Given the description of an element on the screen output the (x, y) to click on. 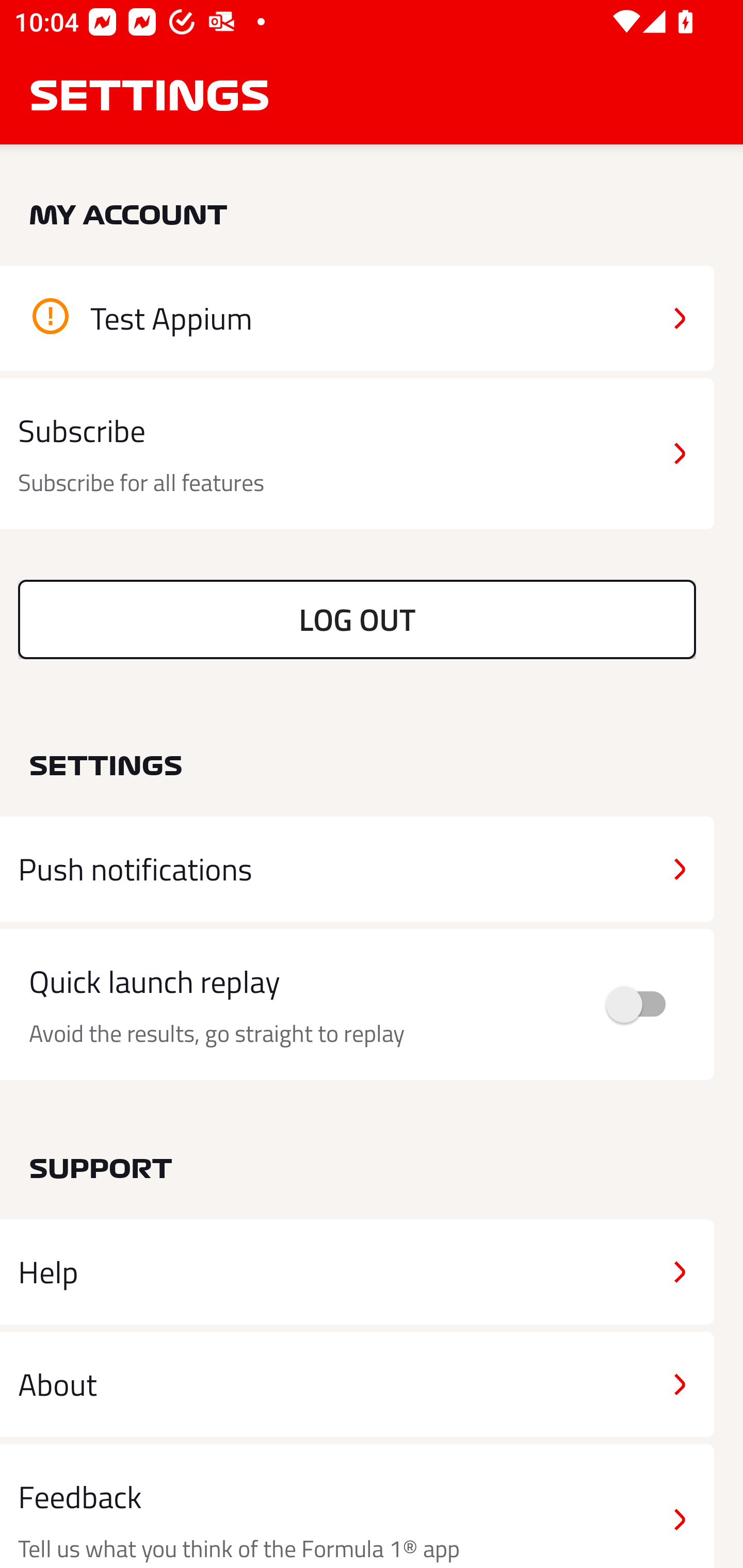
Test Appium (357, 317)
Subscribe Subscribe for all features (357, 453)
LOG OUT (356, 619)
Push notifications (357, 868)
Help (357, 1271)
About (357, 1383)
